Given the description of an element on the screen output the (x, y) to click on. 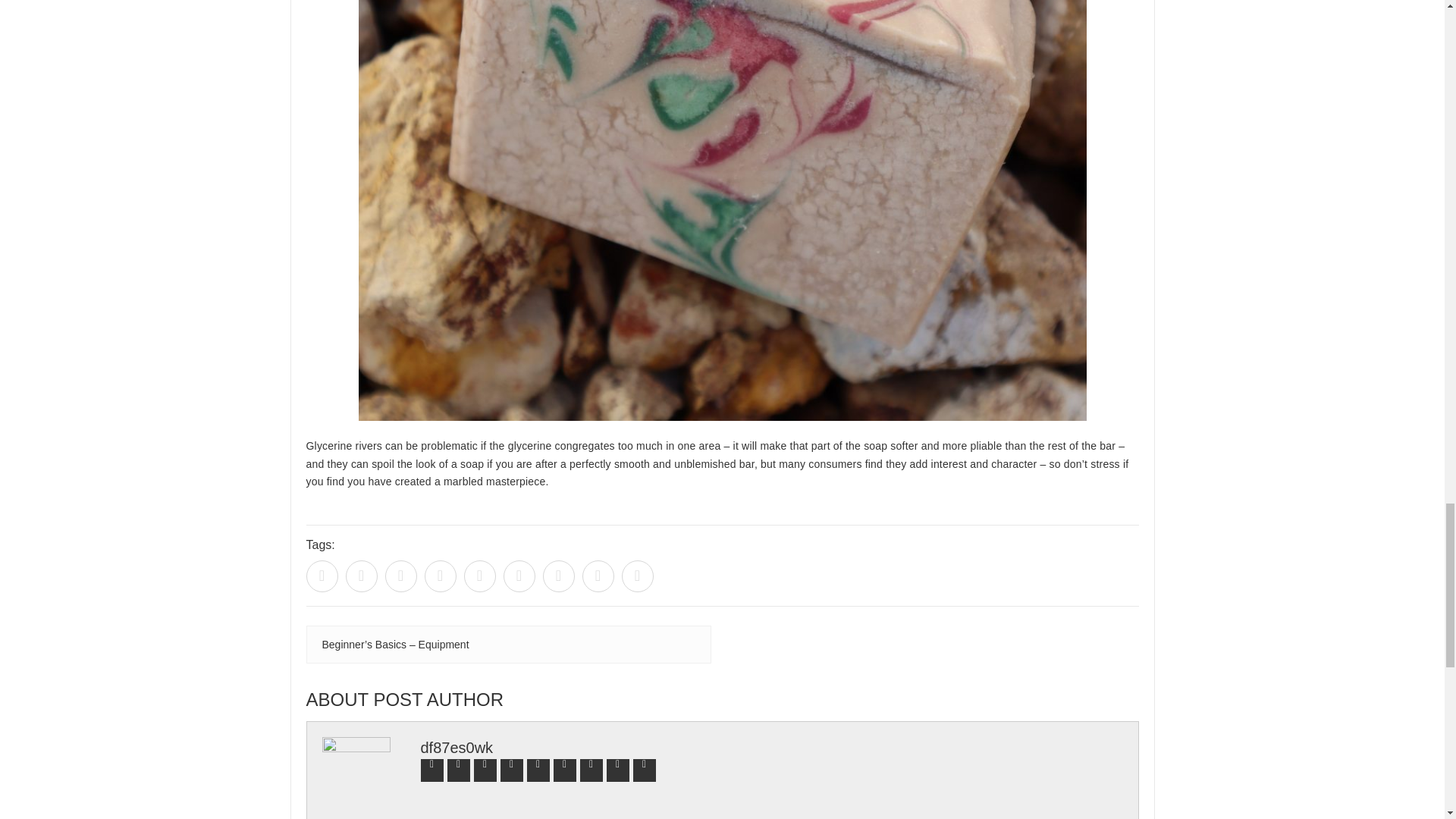
Posts by df87es0wk (456, 747)
df87es0wk (456, 747)
